Given the description of an element on the screen output the (x, y) to click on. 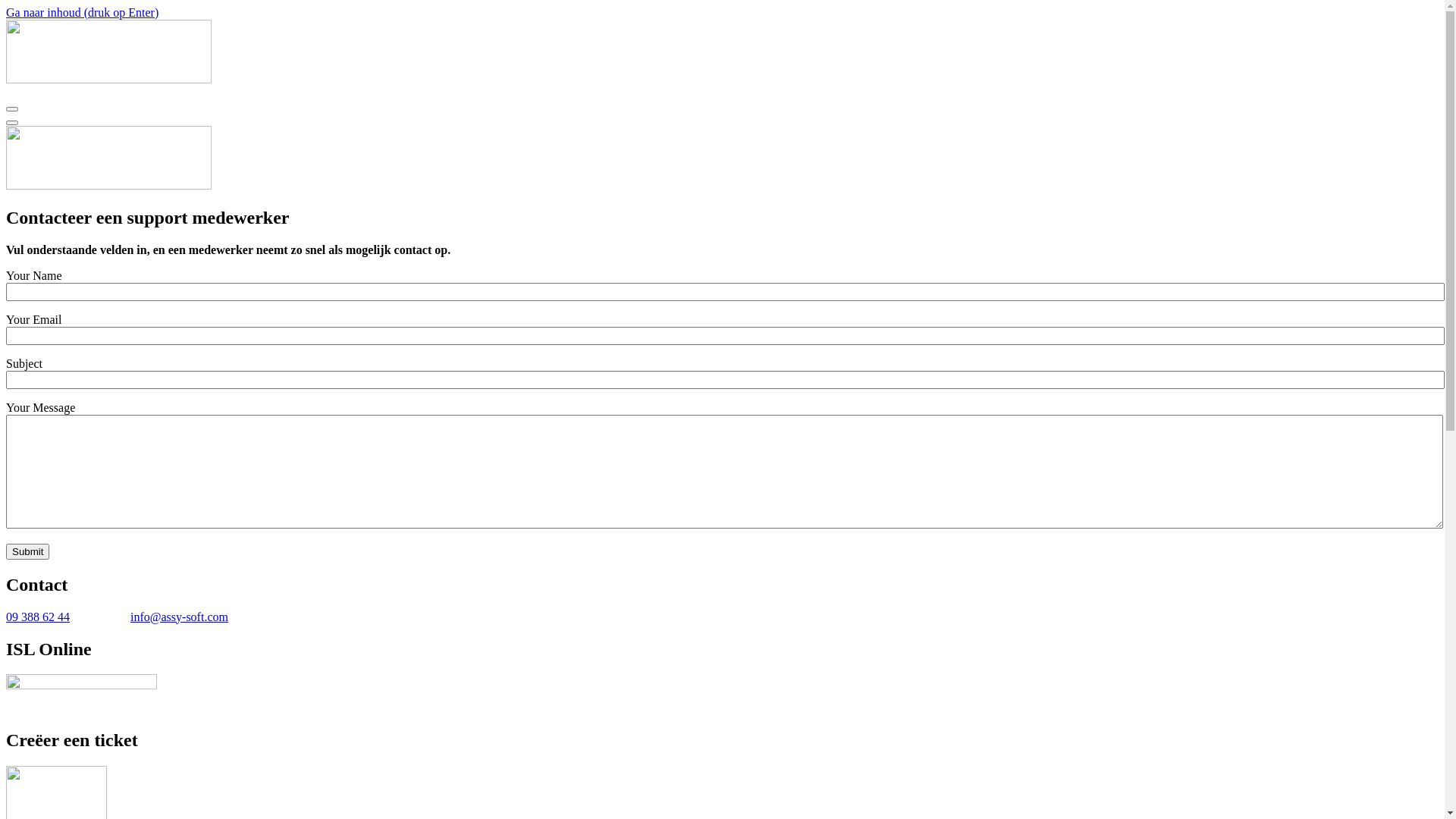
info@assy-soft.com Element type: text (179, 616)
ISL Online Element type: hover (81, 694)
Submit Element type: text (27, 551)
Ga naar inhoud (druk op Enter) Element type: text (82, 12)
09 388 62 44 Element type: text (37, 616)
